Given the description of an element on the screen output the (x, y) to click on. 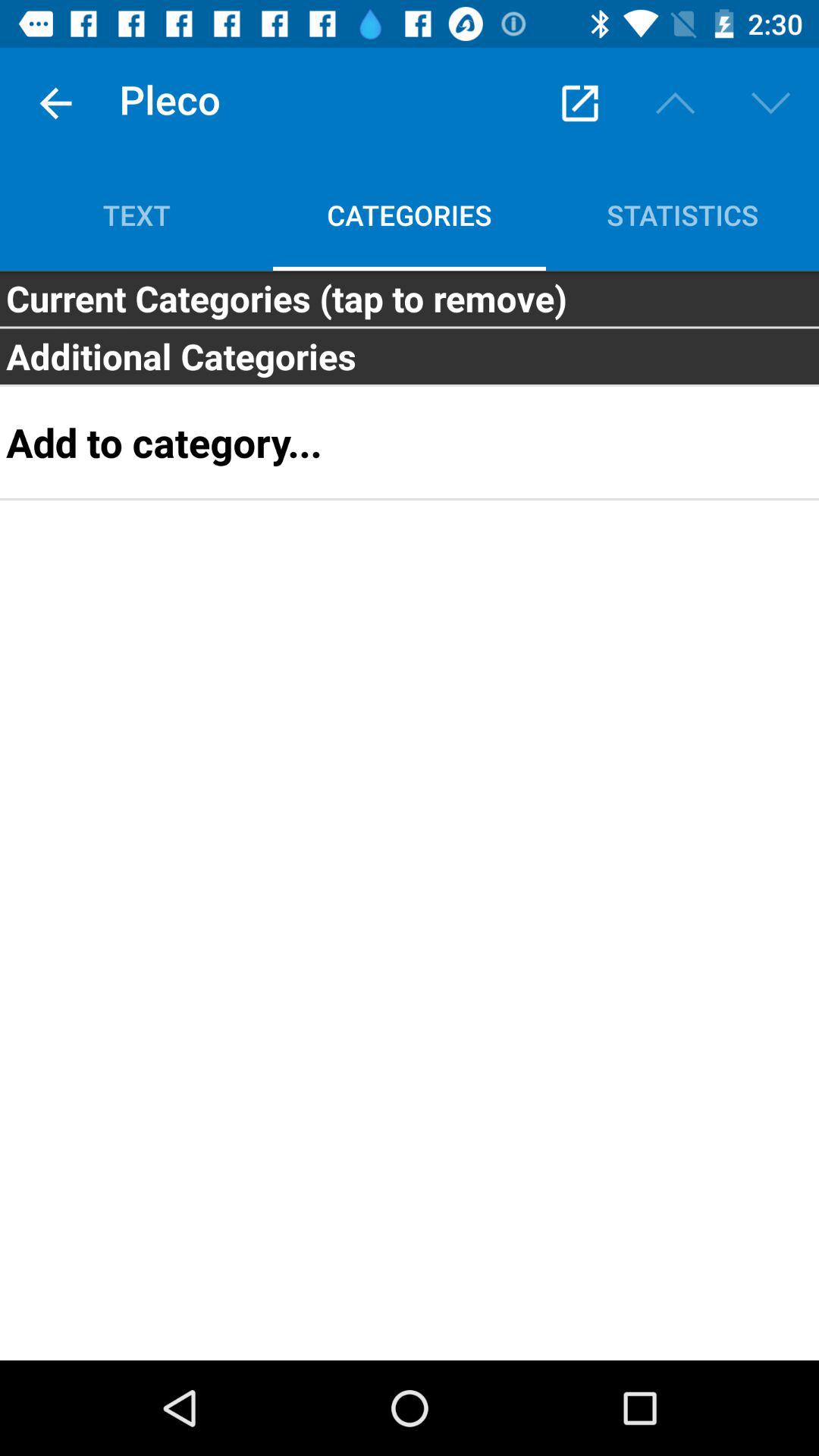
scroll to current categories tap item (409, 298)
